Given the description of an element on the screen output the (x, y) to click on. 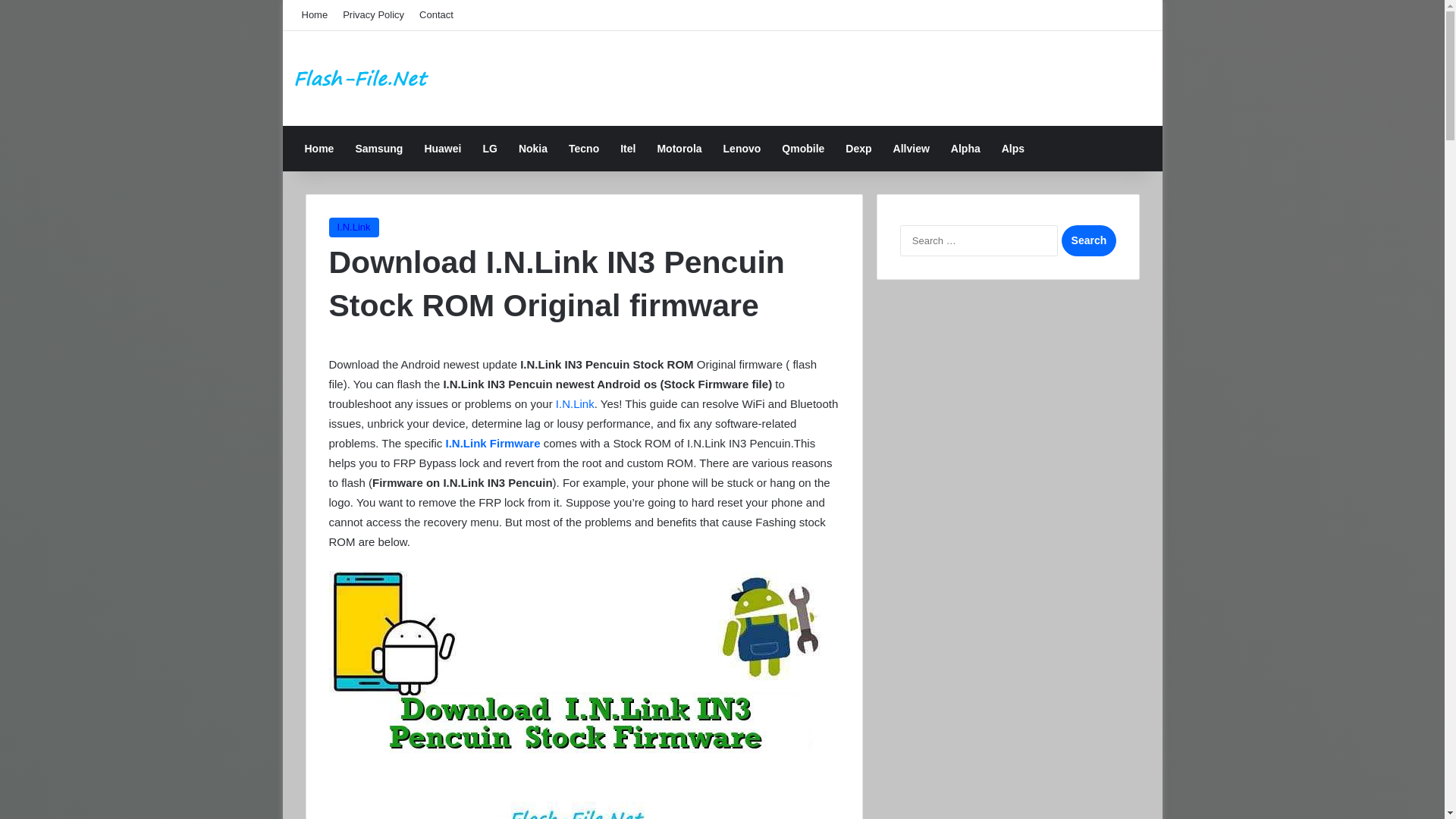
Tecno (583, 148)
Flash-File.Net (362, 78)
I.N.Link (353, 227)
Allview (911, 148)
Huawei (442, 148)
Search (1088, 240)
Privacy Policy (373, 15)
Dexp (858, 148)
Search (1088, 240)
Nokia (532, 148)
I.N.Link (575, 403)
Samsung (378, 148)
Qmobile (802, 148)
Alps (1013, 148)
Motorola (678, 148)
